Given the description of an element on the screen output the (x, y) to click on. 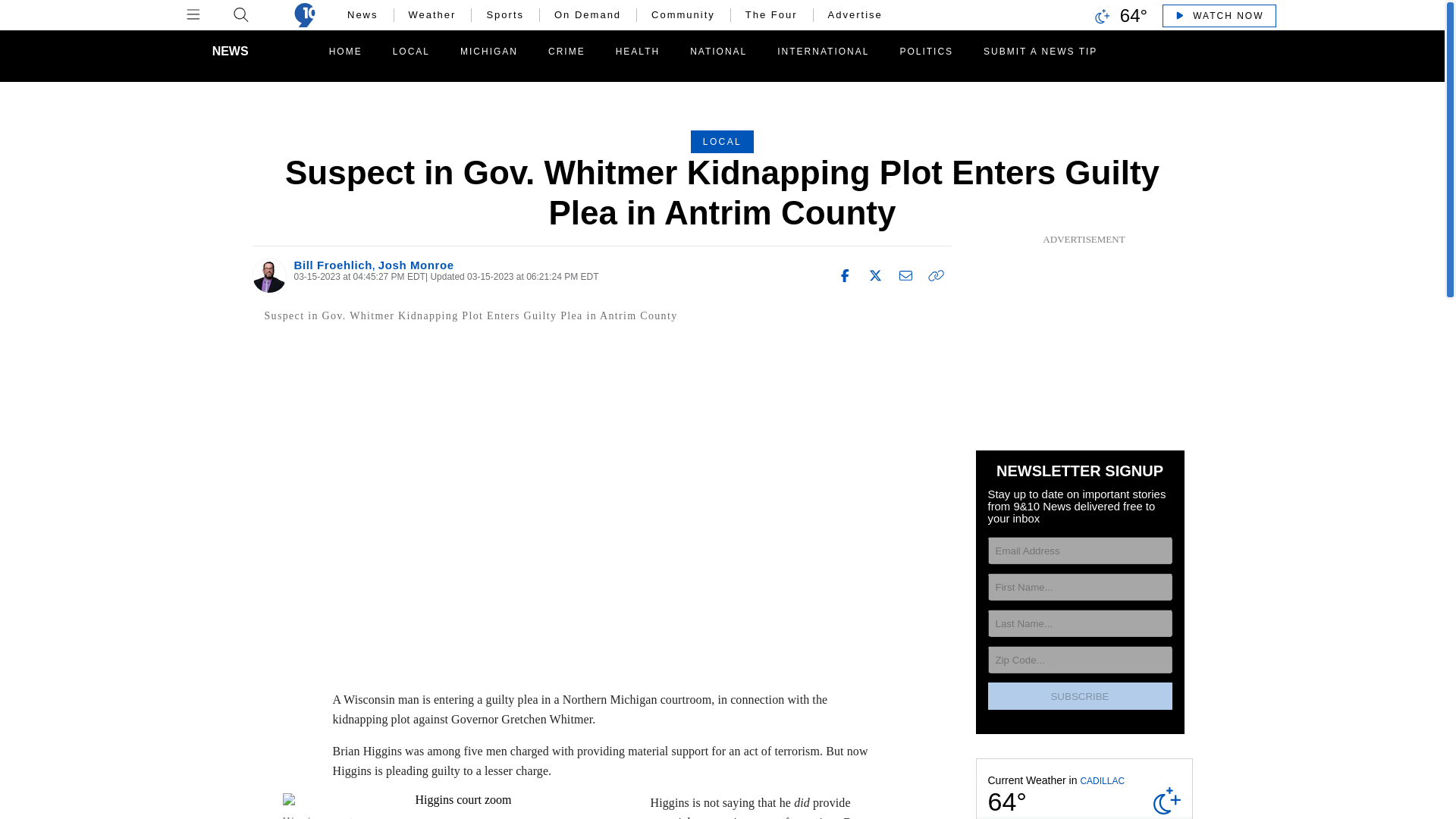
LOCAL (411, 51)
NATIONAL (718, 51)
HOME (345, 51)
INTERNATIONAL (823, 51)
POLITICS (925, 51)
News (362, 15)
WATCH NOW (1218, 15)
Weather (432, 15)
Sports (505, 15)
Higgins court zoom (456, 799)
